Given the description of an element on the screen output the (x, y) to click on. 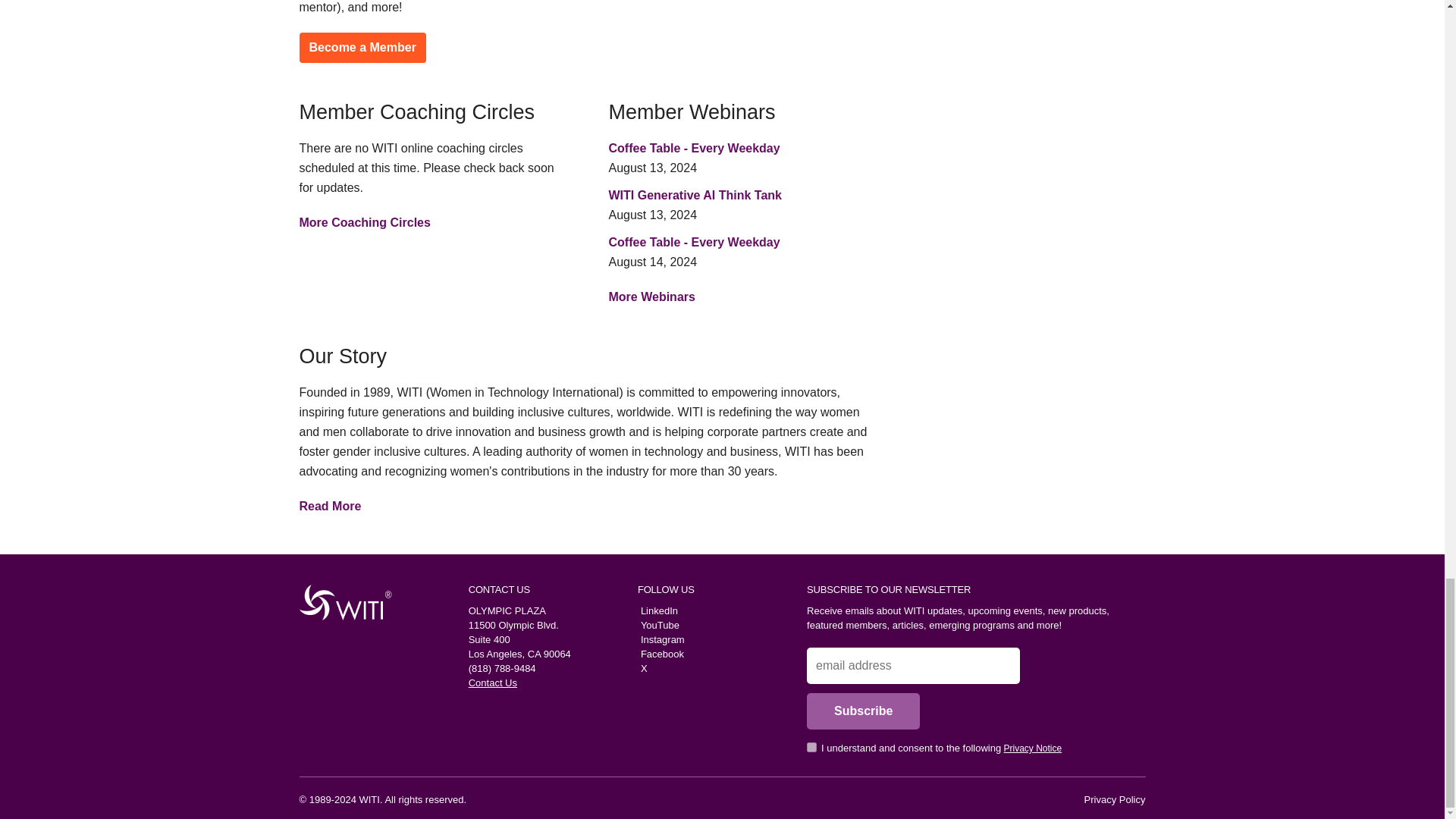
Become a Member (361, 47)
Coffee Table - Every Weekday (693, 241)
Coffee Table - Every Weekday (693, 147)
Subscribe (863, 710)
More Webinars (651, 296)
on (811, 747)
More Coaching Circles (363, 222)
Workforce Innovation, Trust, and Influence (339, 601)
Read More (329, 505)
WITI Generative AI Think Tank (694, 195)
